Given the description of an element on the screen output the (x, y) to click on. 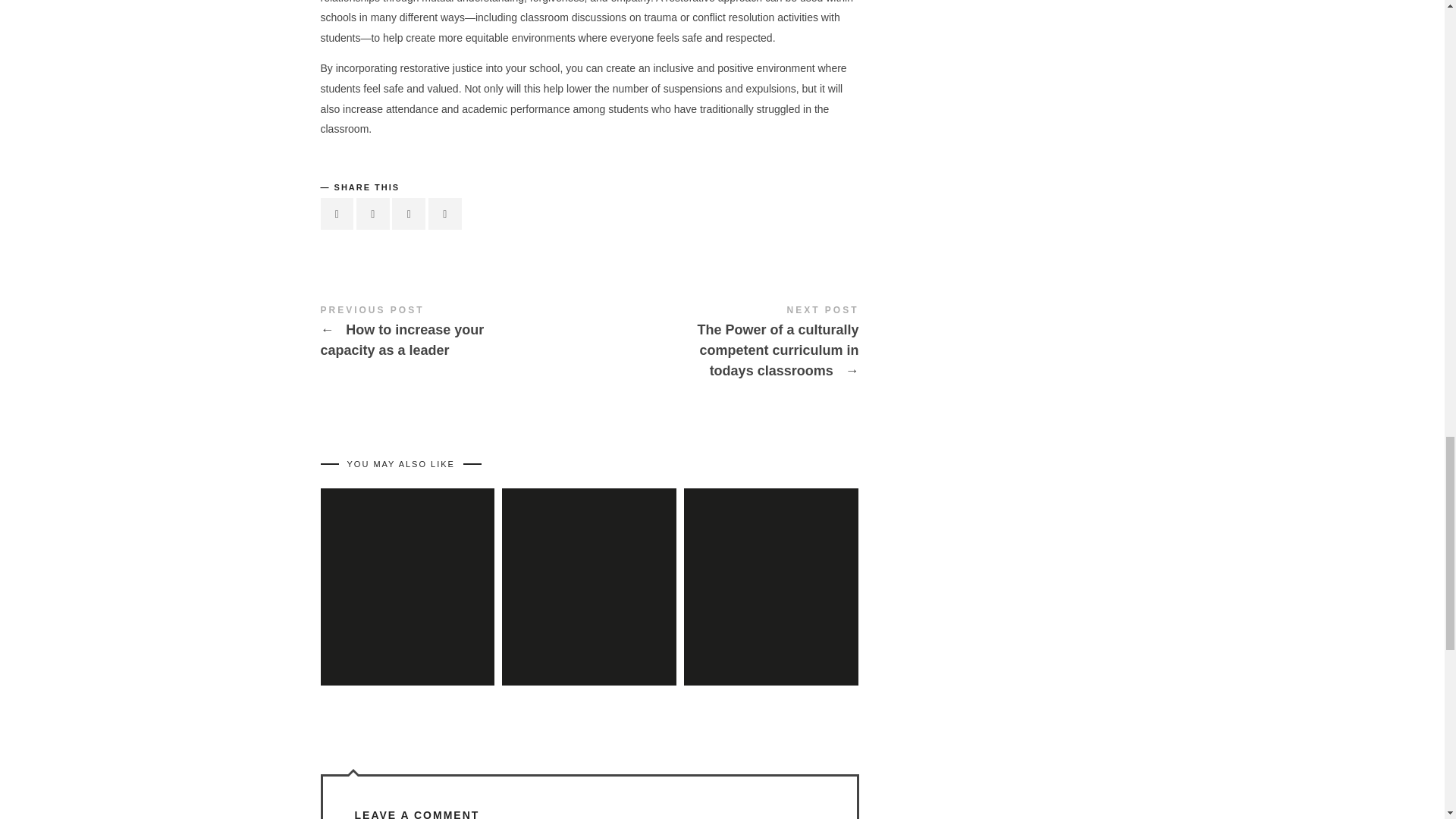
Pin it (408, 214)
Email this post to a friend (444, 214)
Share this post on Facebook (336, 214)
Tweet this post to your followers (373, 214)
